Given the description of an element on the screen output the (x, y) to click on. 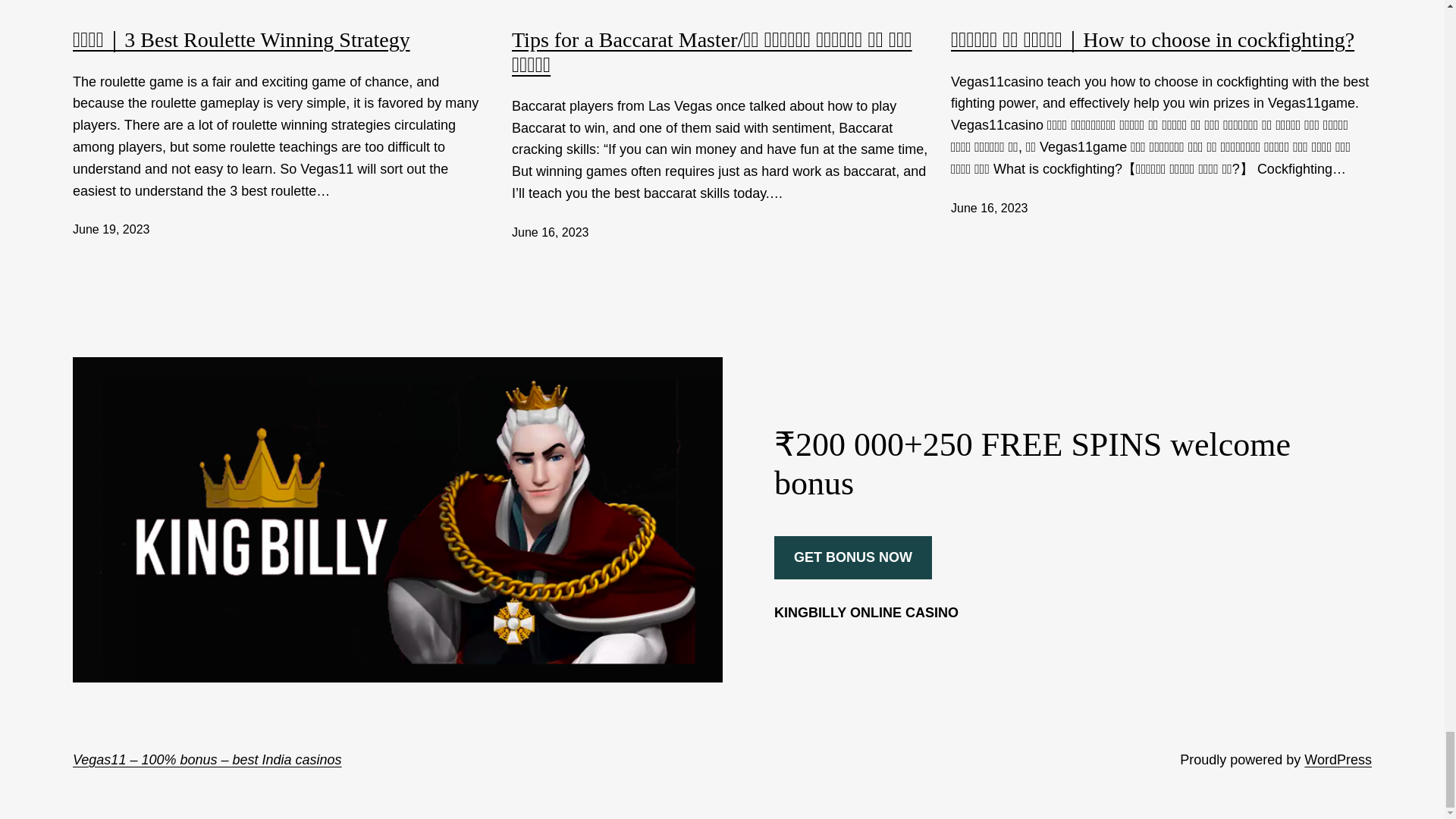
WordPress (1337, 759)
GET BONUS NOW (852, 557)
